Given the description of an element on the screen output the (x, y) to click on. 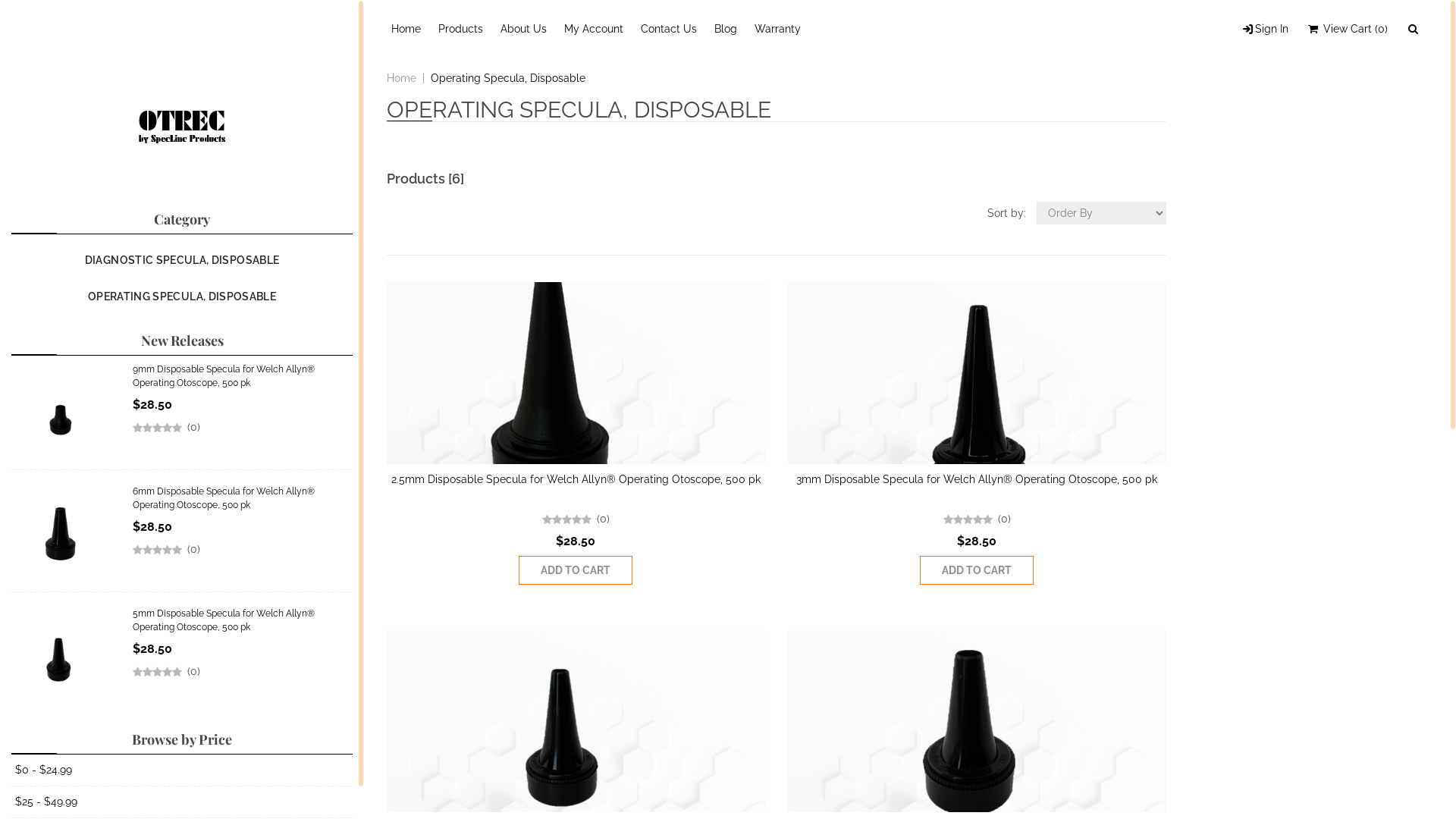
Products Element type: text (460, 28)
Home Element type: text (401, 78)
Contact Us Element type: text (668, 28)
Operating Specula, Disposable Element type: text (507, 78)
View Cart (0) Element type: text (1347, 28)
ADD TO CART Element type: text (976, 569)
Blog Element type: text (725, 28)
Warranty Element type: text (777, 28)
DIAGNOSTIC SPECULA, DISPOSABLE Element type: text (182, 259)
$25 - $49.99 Element type: text (46, 801)
My Account Element type: text (593, 28)
OPERATING SPECULA, DISPOSABLE Element type: text (182, 296)
Home Element type: text (405, 28)
About Us Element type: text (523, 28)
ADD TO CART Element type: text (575, 569)
Sign In Element type: text (1263, 28)
$0 - $24.99 Element type: text (43, 769)
